Given the description of an element on the screen output the (x, y) to click on. 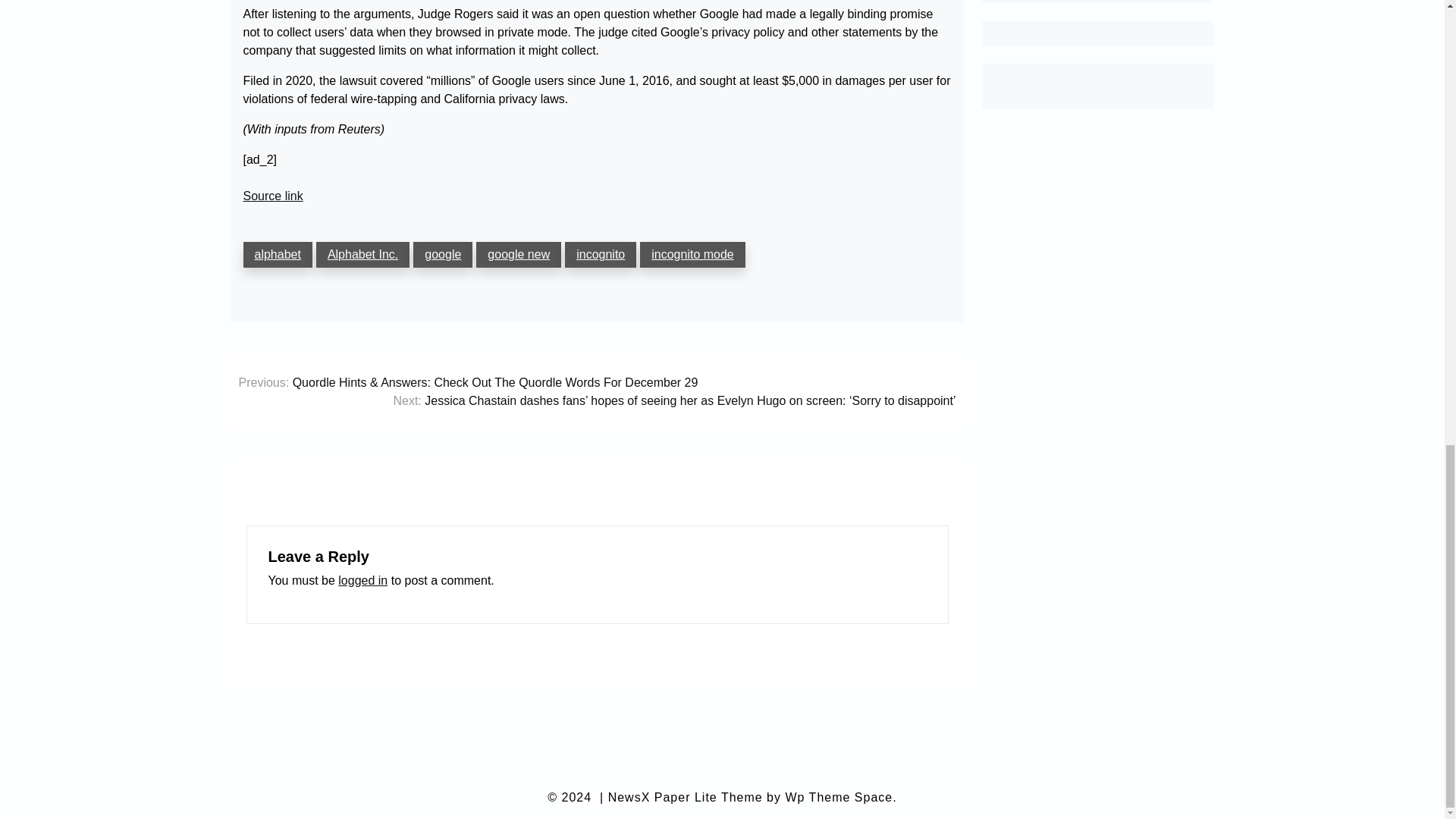
google new (518, 254)
google (442, 254)
alphabet (277, 254)
Source link (272, 196)
Alphabet Inc. (362, 254)
